Given the description of an element on the screen output the (x, y) to click on. 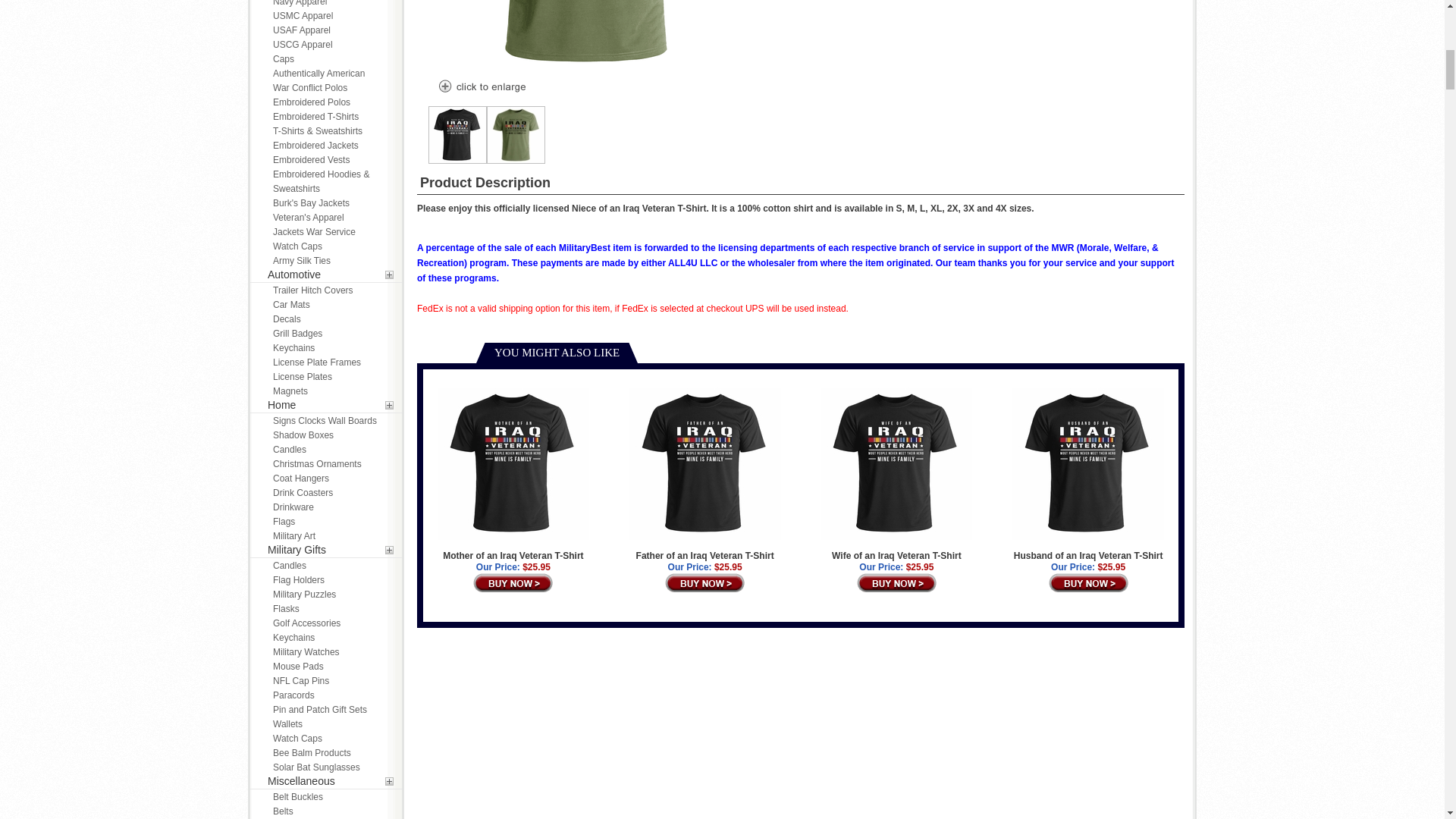
Niece of an Iraq Veteran T-Shirt (481, 87)
